Given the description of an element on the screen output the (x, y) to click on. 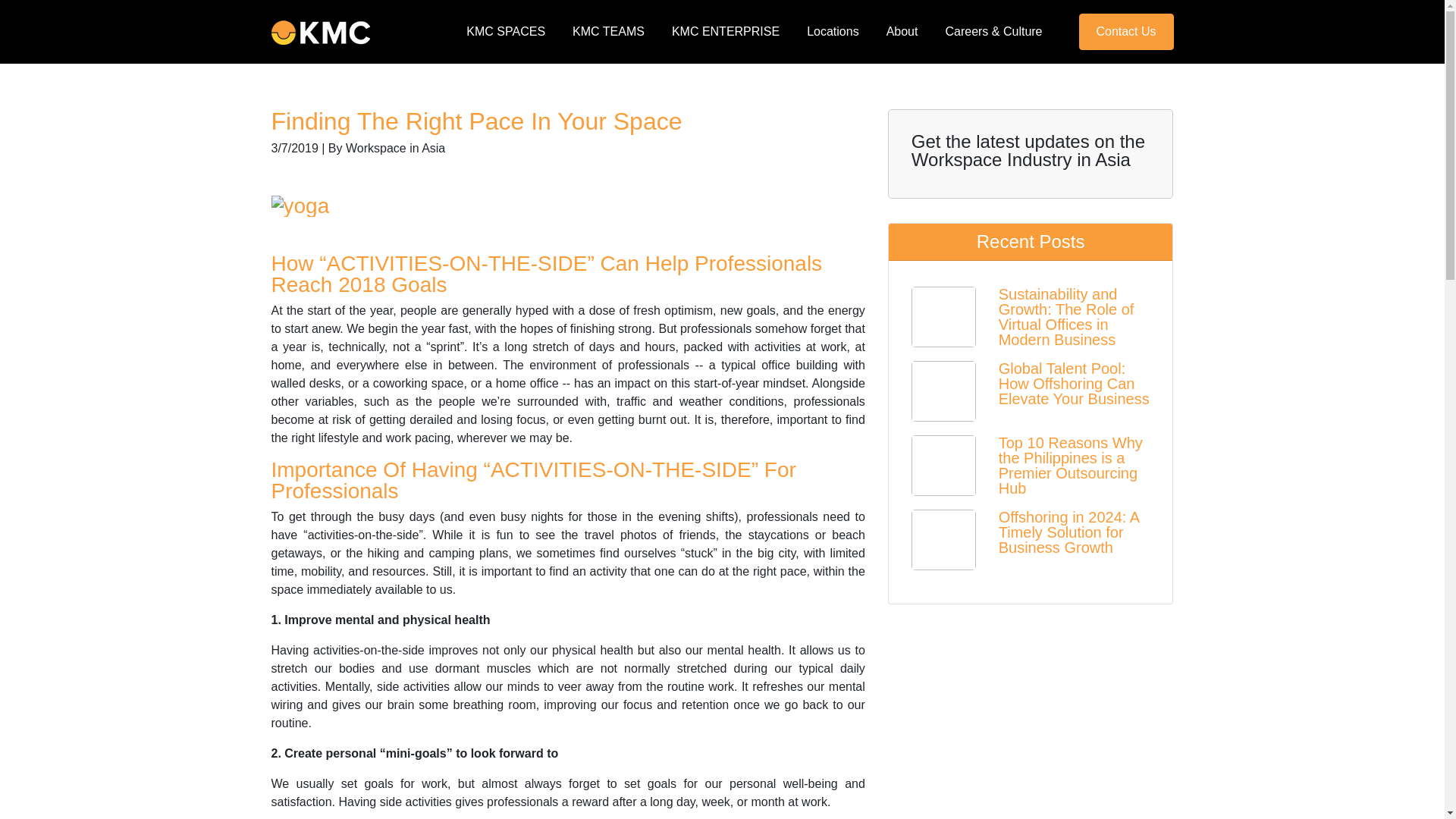
KMC Solutions (319, 32)
